Given the description of an element on the screen output the (x, y) to click on. 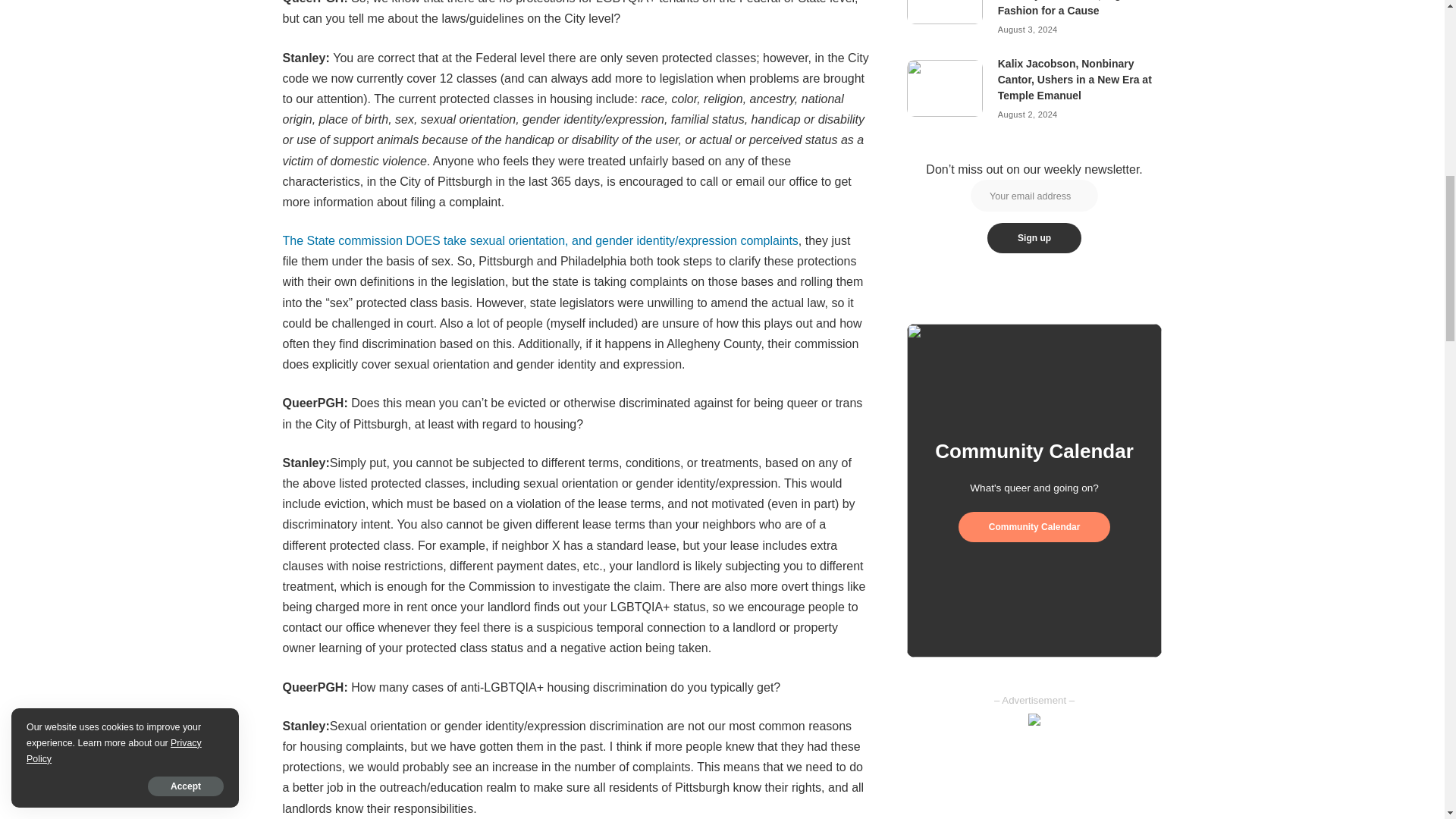
Sign up (1034, 237)
